Given the description of an element on the screen output the (x, y) to click on. 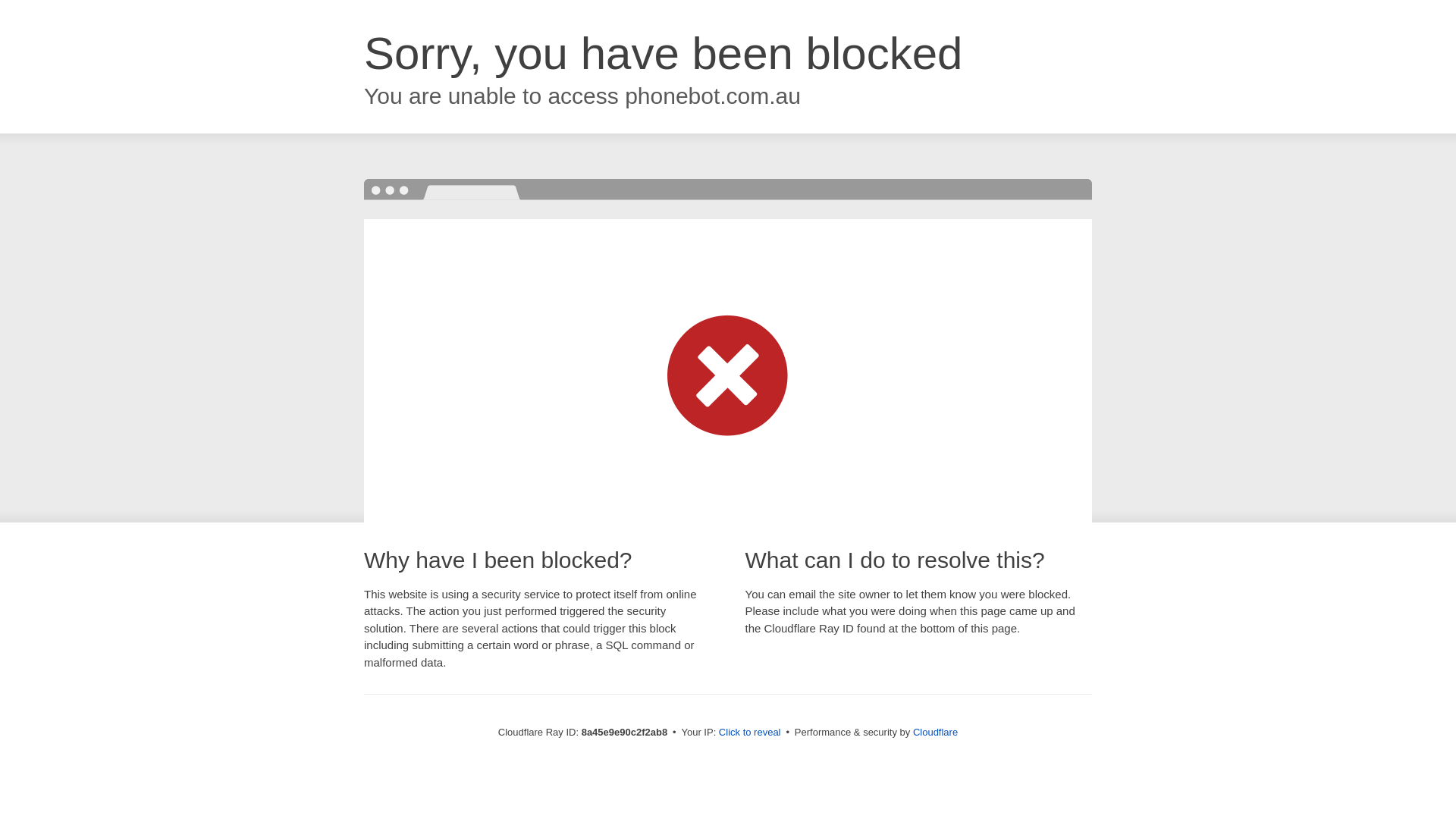
Cloudflare (935, 731)
Click to reveal (749, 732)
